Given the description of an element on the screen output the (x, y) to click on. 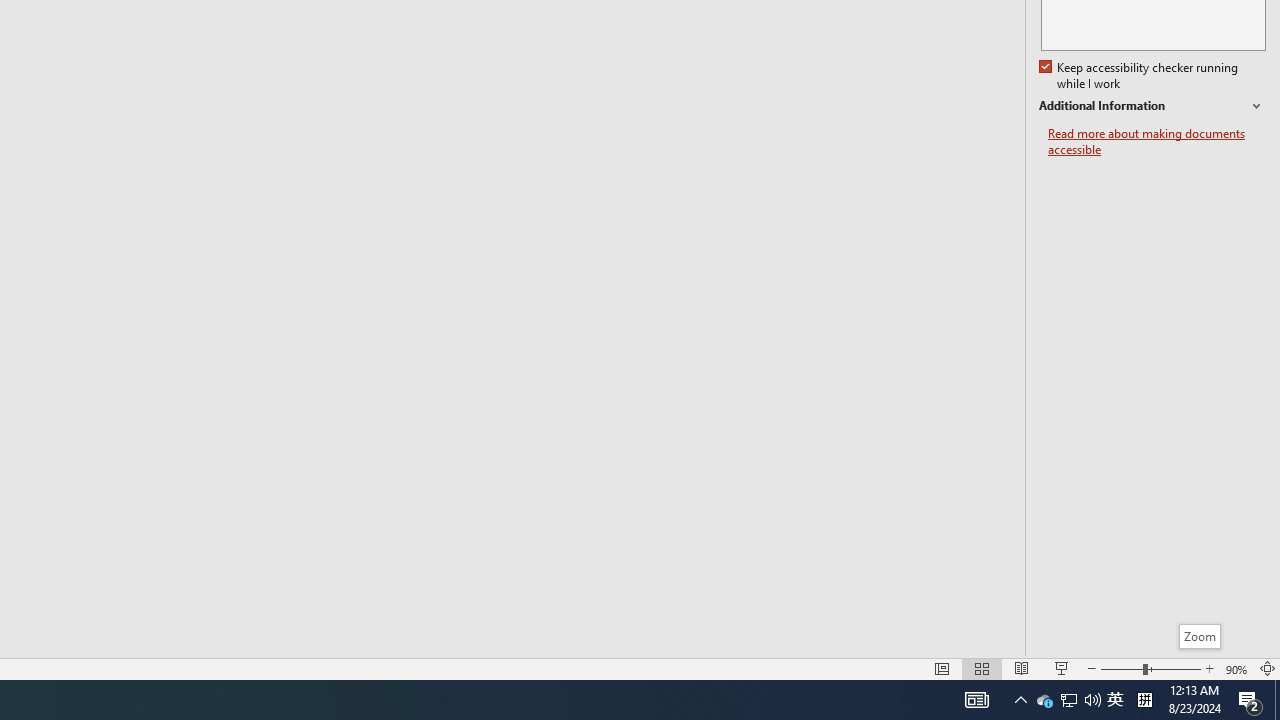
Zoom 90% (1236, 668)
